Given the description of an element on the screen output the (x, y) to click on. 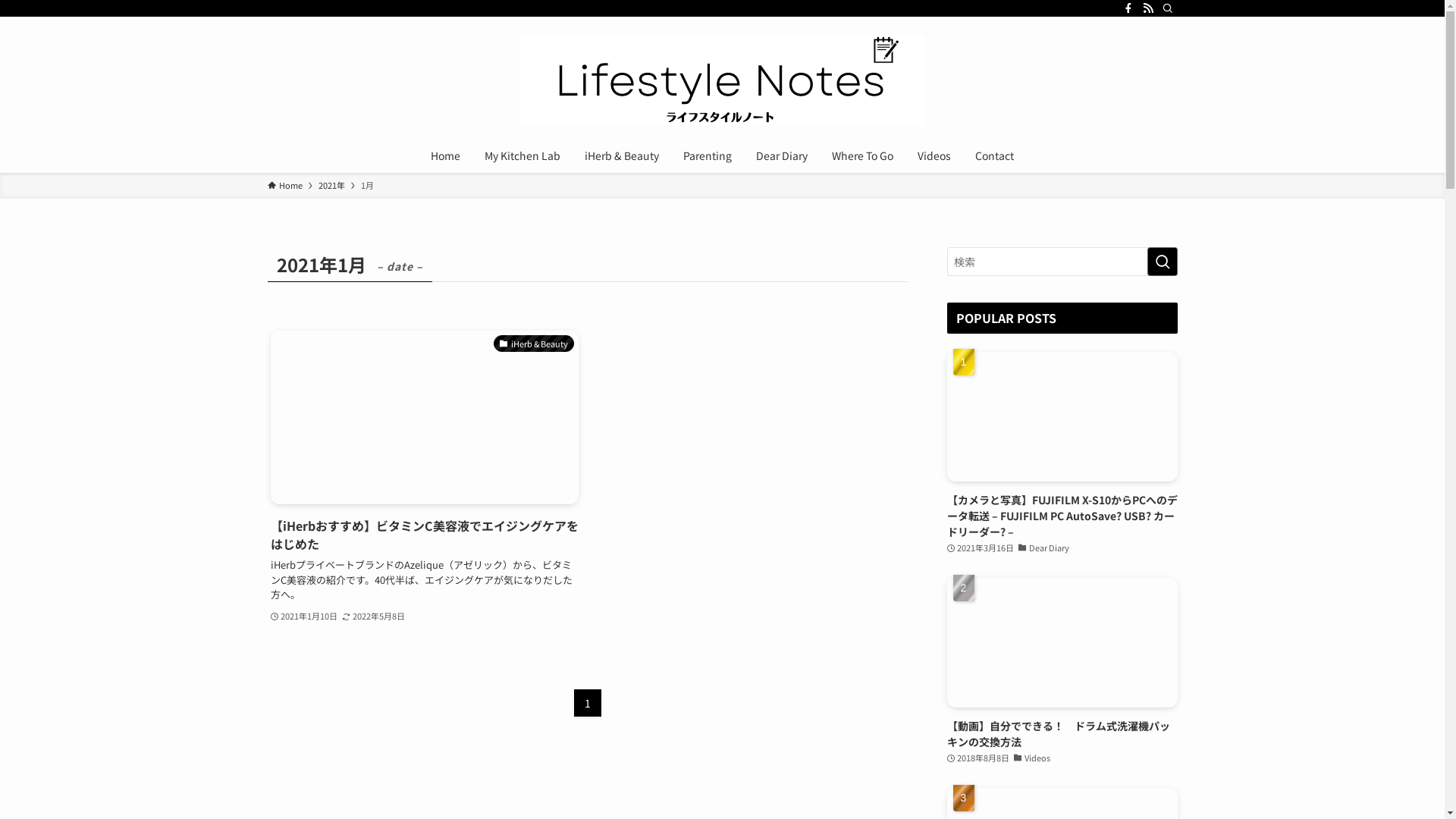
Parenting Element type: text (707, 155)
lifestylenotes.com.au Element type: hover (722, 79)
Dear Diary Element type: text (781, 155)
Videos Element type: text (934, 155)
Home Element type: text (283, 185)
Where To Go Element type: text (862, 155)
Contact Element type: text (994, 155)
search Element type: text (1161, 261)
Home Element type: text (445, 155)
search Element type: text (921, 421)
iHerb & Beauty Element type: text (621, 155)
My Kitchen Lab Element type: text (522, 155)
